Given the description of an element on the screen output the (x, y) to click on. 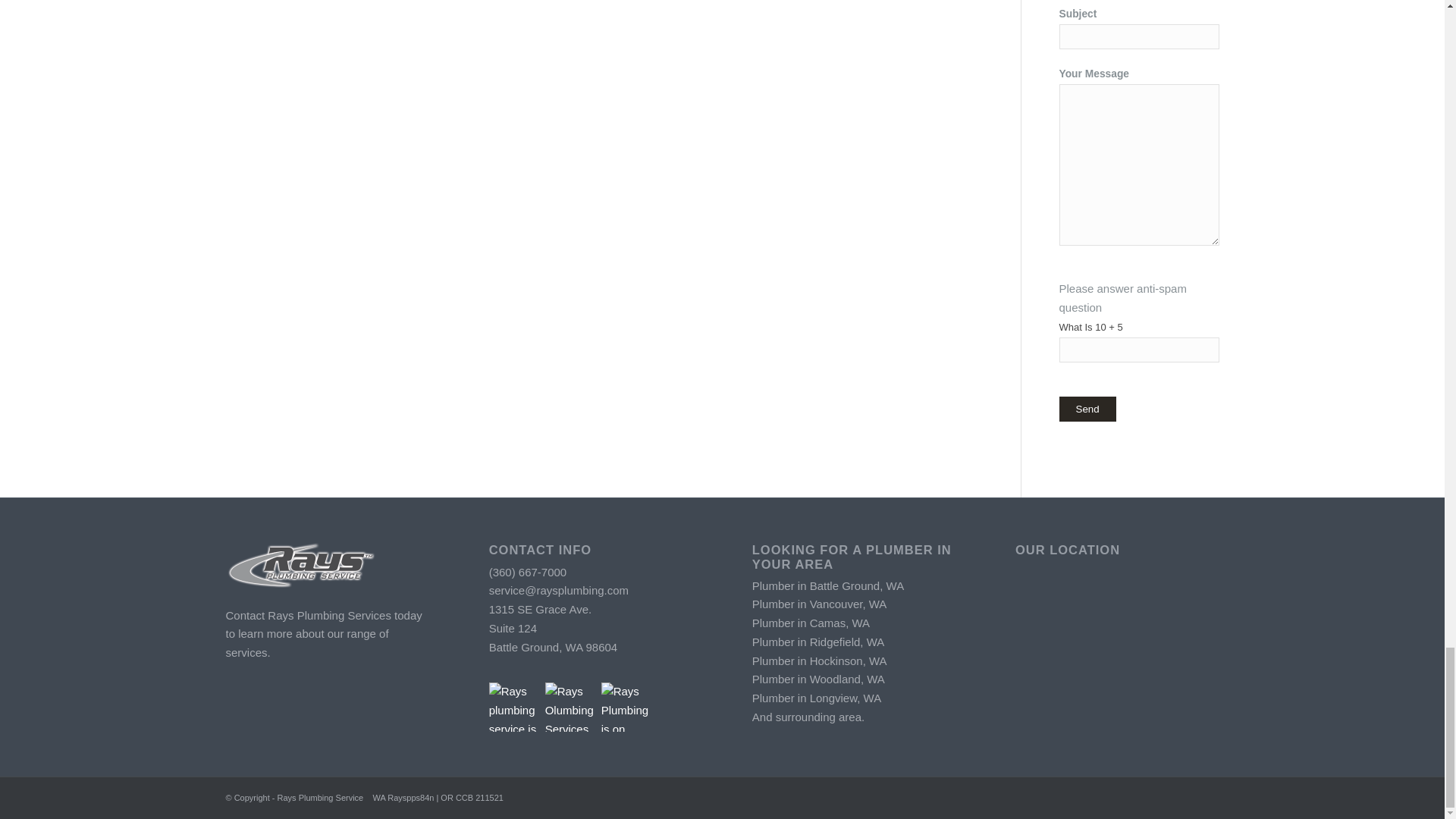
Send (1086, 408)
